Given the description of an element on the screen output the (x, y) to click on. 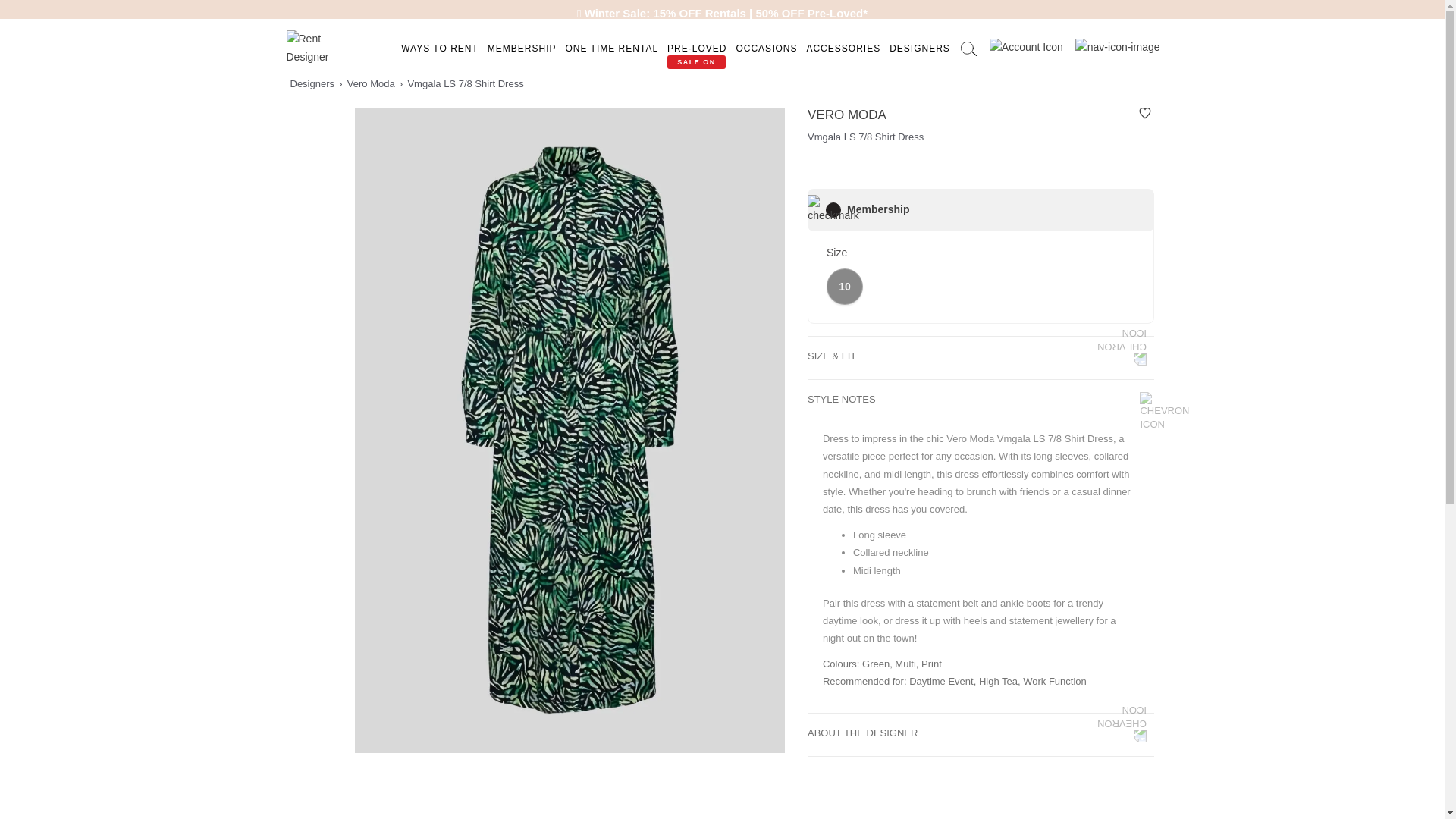
WAYS TO RENT (439, 48)
MEMBERSHIP (521, 48)
Rent Designer Dresses Online - Glam Corner (316, 47)
